Given the description of an element on the screen output the (x, y) to click on. 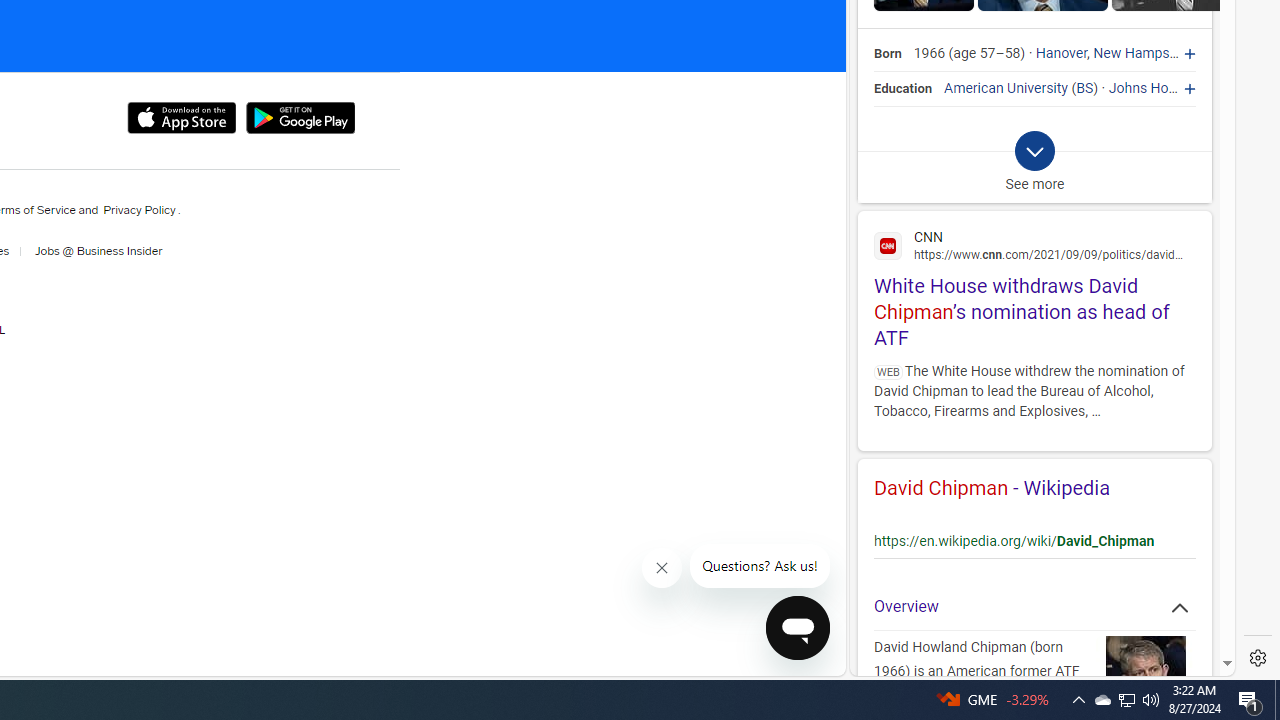
Open messaging window (797, 628)
Download on the App Store (180, 118)
Download on the App Store (180, 117)
Jobs @ Business Insider (92, 251)
Privacy Policy (139, 209)
Questions? Ask us! (759, 566)
Johns Hopkins University (1187, 88)
Class: sc-1uf0igr-1 fjHZYk (662, 568)
Hanover (1061, 53)
Education (903, 88)
